Given the description of an element on the screen output the (x, y) to click on. 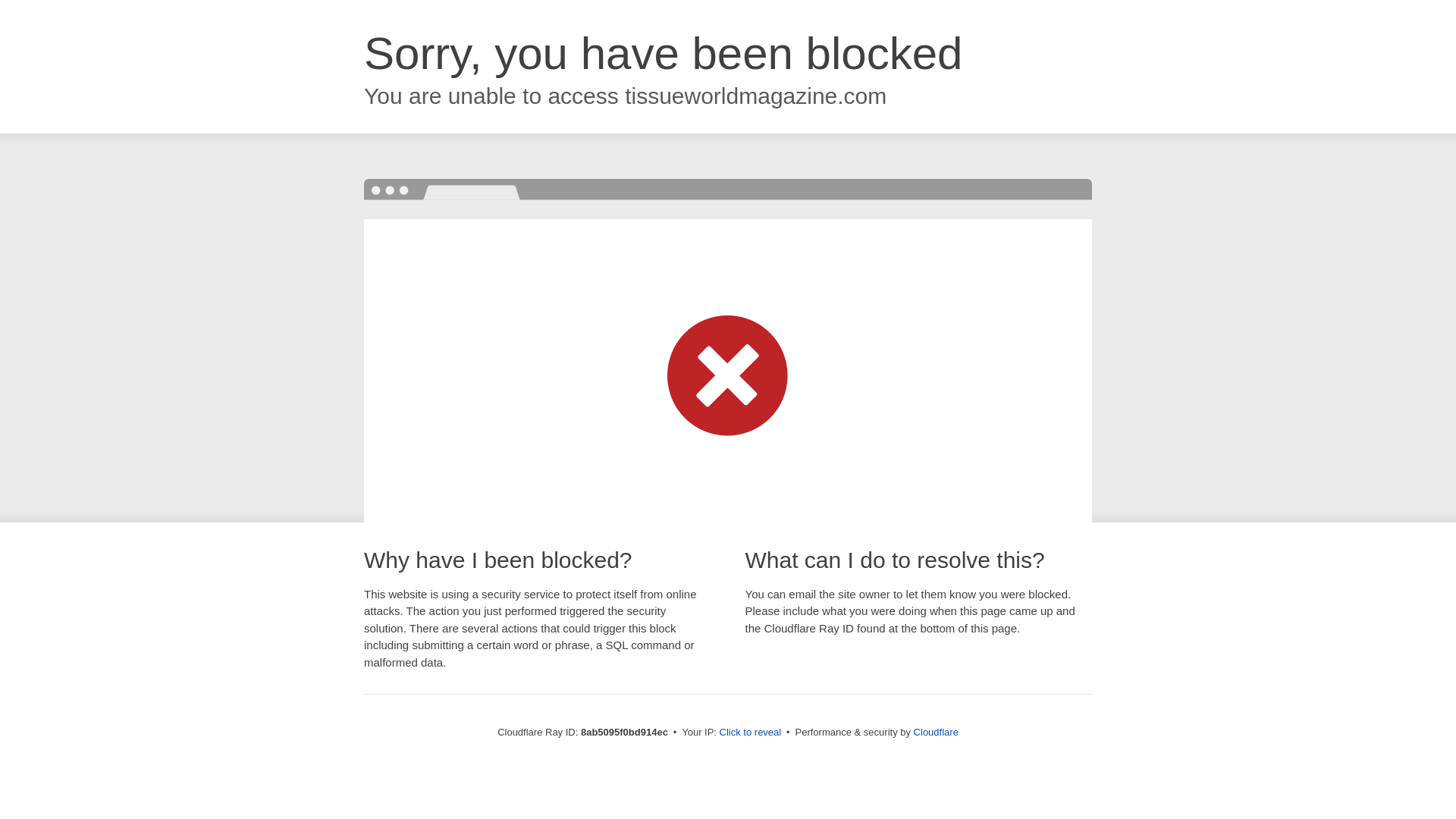
Cloudflare (936, 731)
Click to reveal (750, 732)
